Given the description of an element on the screen output the (x, y) to click on. 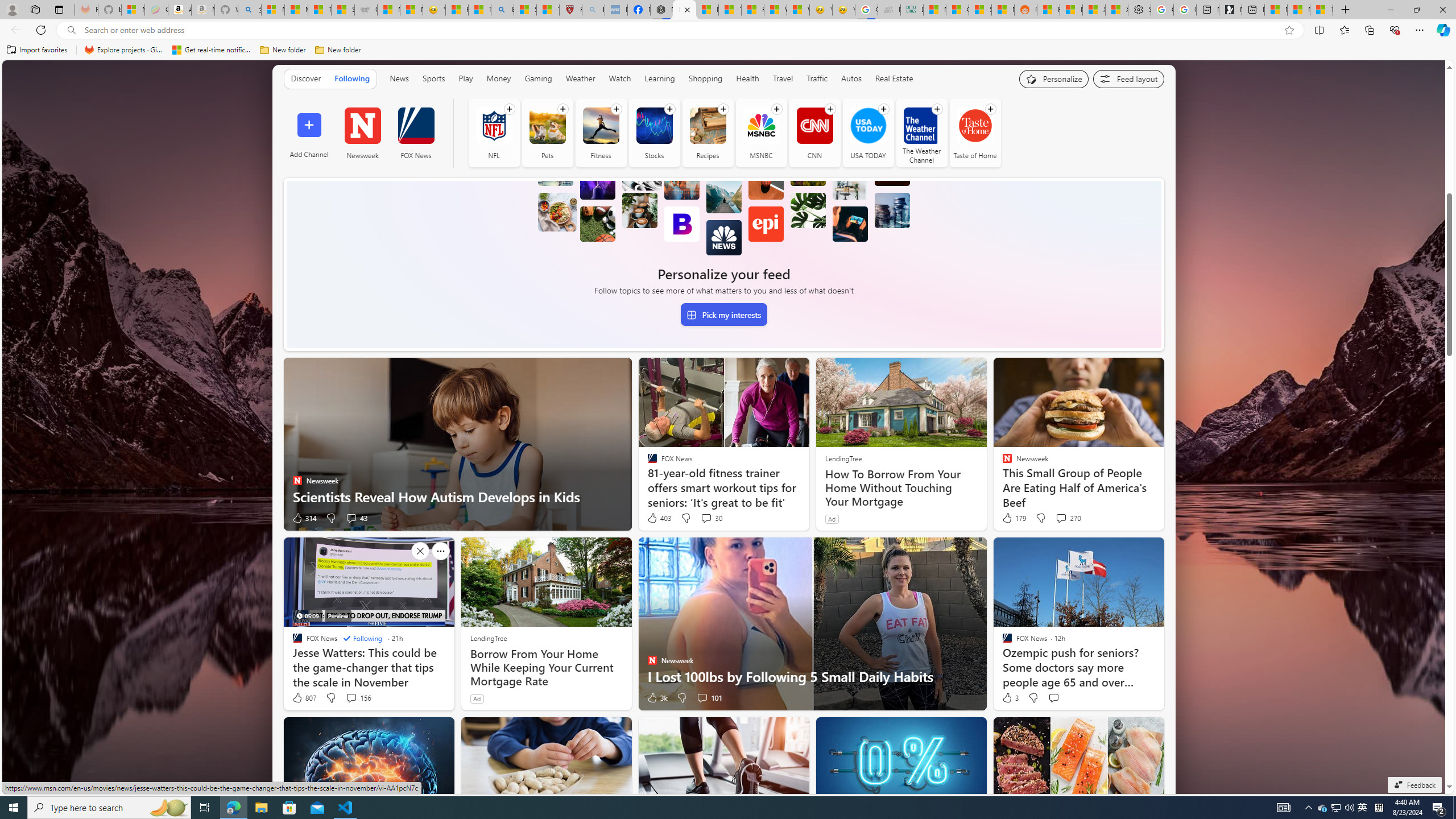
Add Channel (308, 133)
Autos (851, 78)
Hide this story (419, 730)
Newsweek (362, 125)
View comments 30 Comment (710, 517)
View comments 30 Comment (705, 518)
Fitness (600, 125)
